Given the description of an element on the screen output the (x, y) to click on. 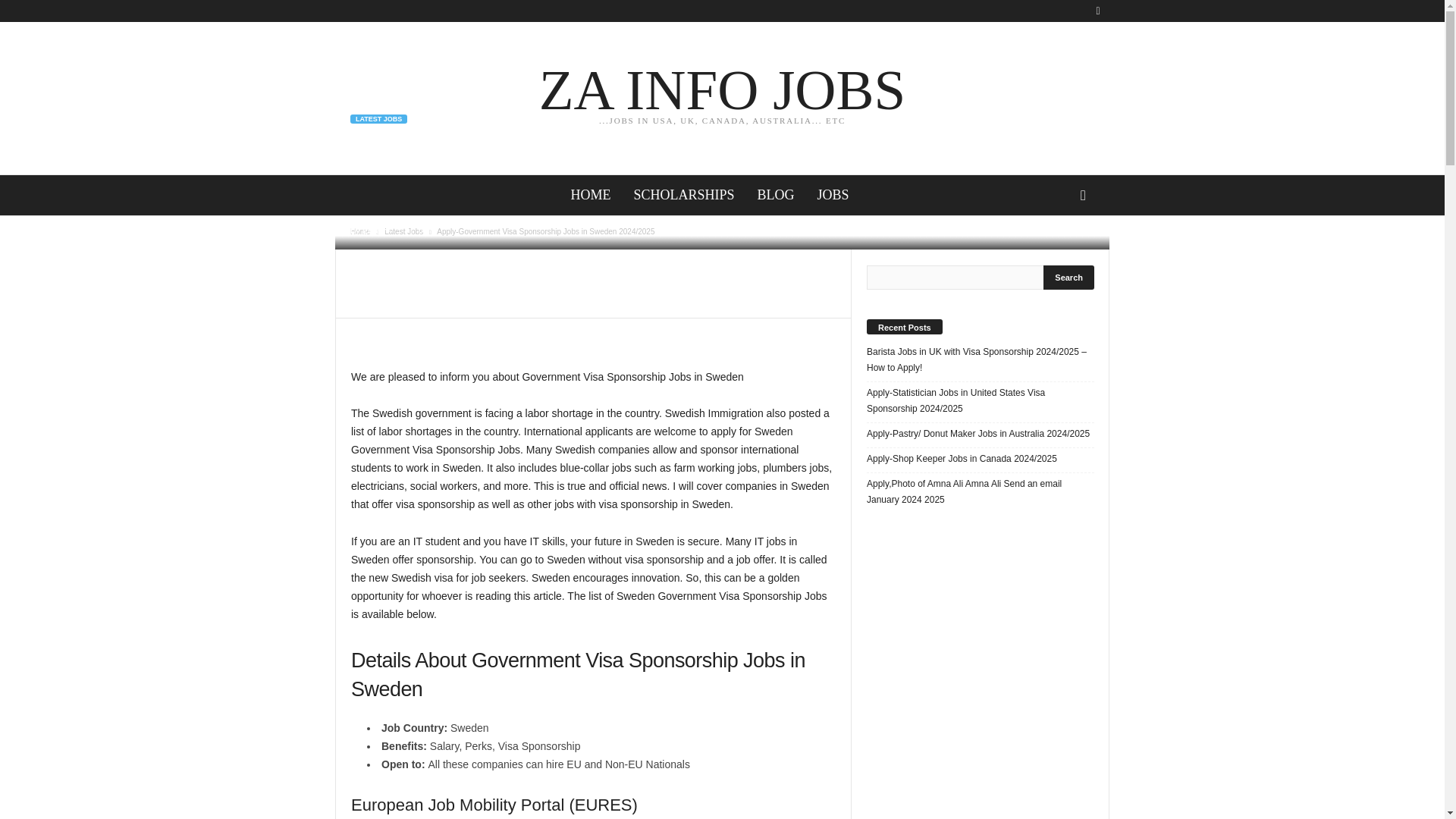
Latest Jobs (403, 231)
BLOG (775, 195)
SCHOLARSHIPS (722, 97)
HOME (683, 195)
0 (590, 195)
Search (413, 230)
View all posts in Latest Jobs (1068, 277)
Home (403, 231)
Emem (360, 231)
